Given the description of an element on the screen output the (x, y) to click on. 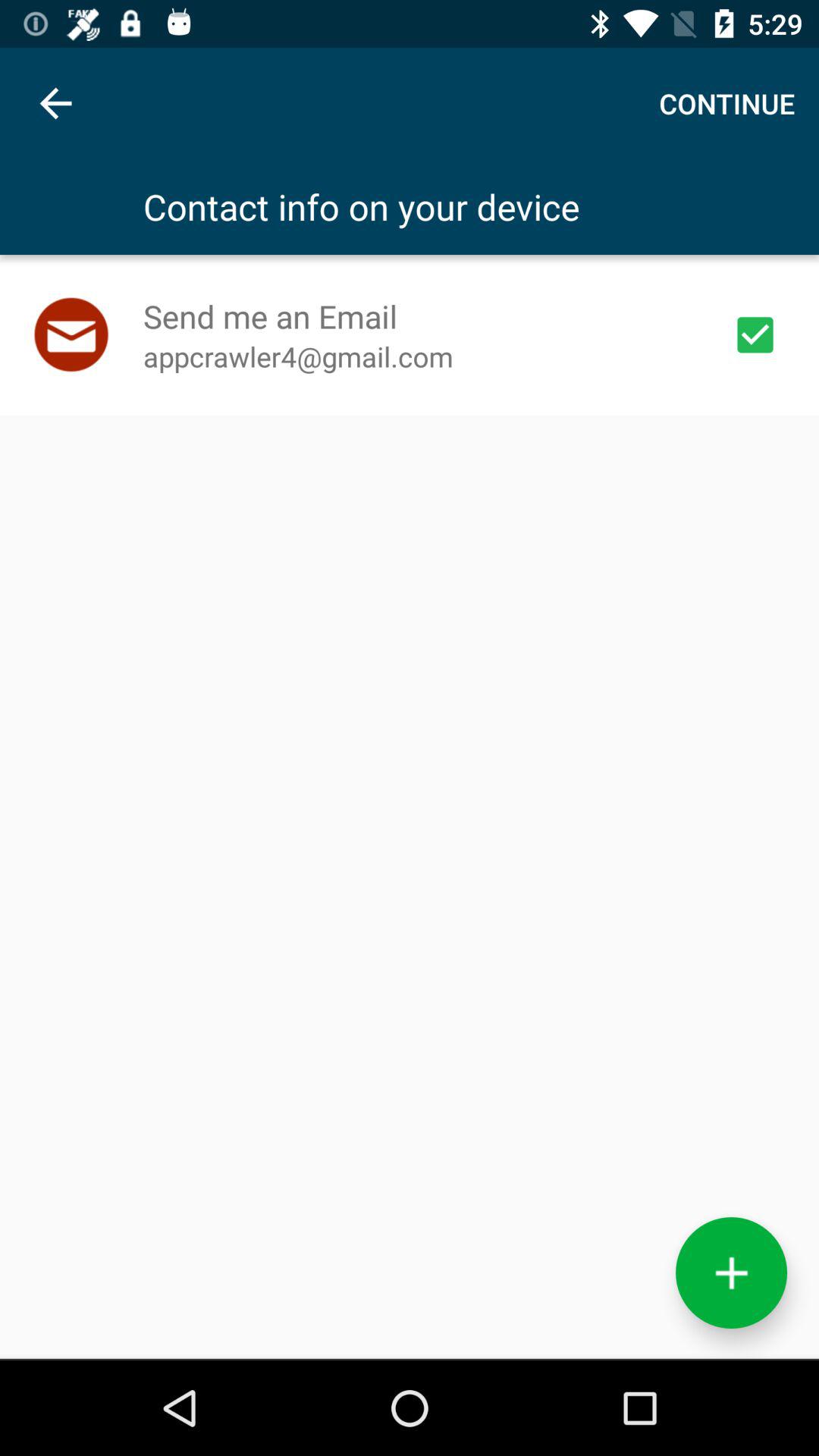
launch the icon next to continue icon (55, 103)
